Given the description of an element on the screen output the (x, y) to click on. 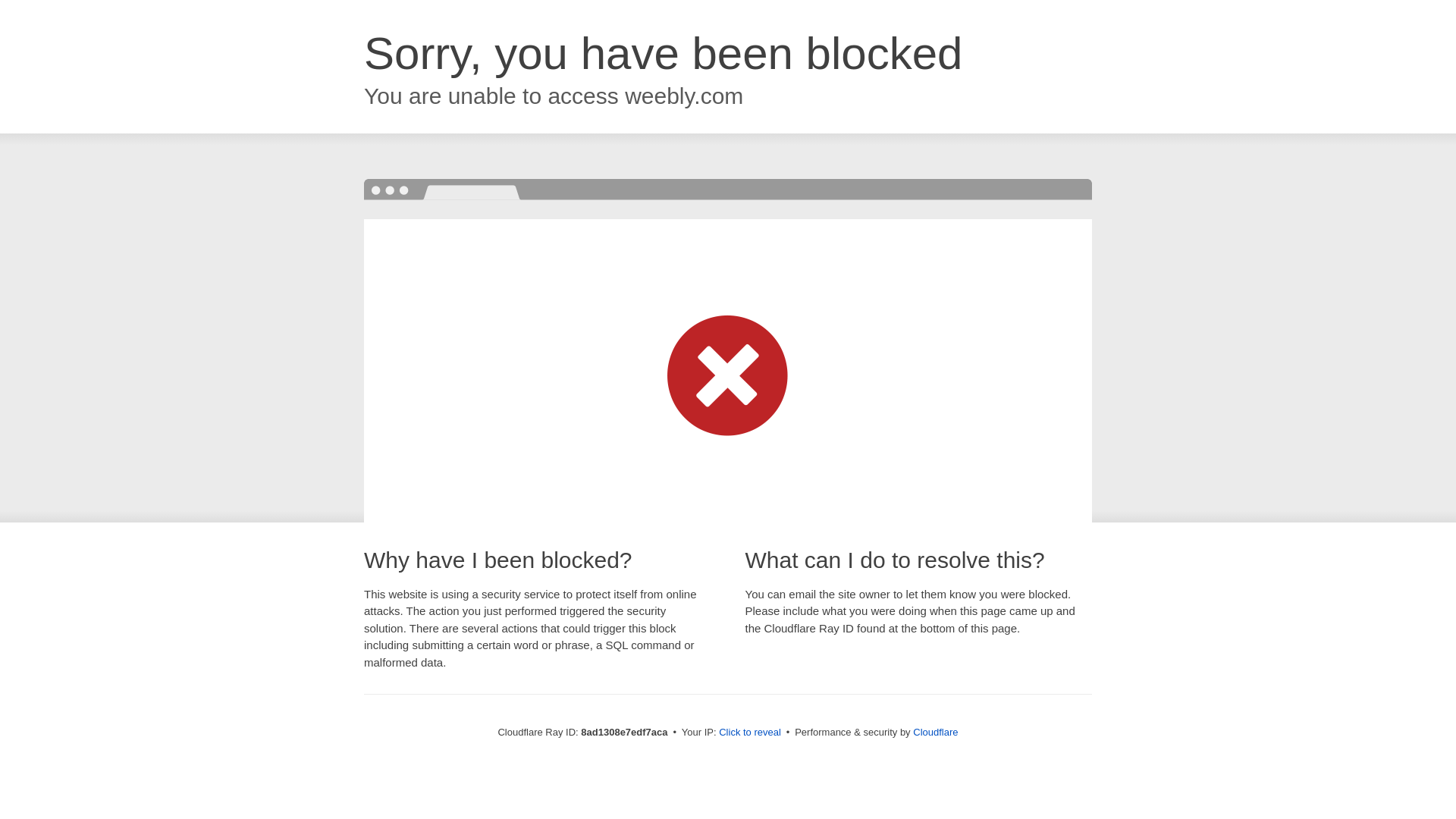
Click to reveal (749, 732)
Cloudflare (935, 731)
